Given the description of an element on the screen output the (x, y) to click on. 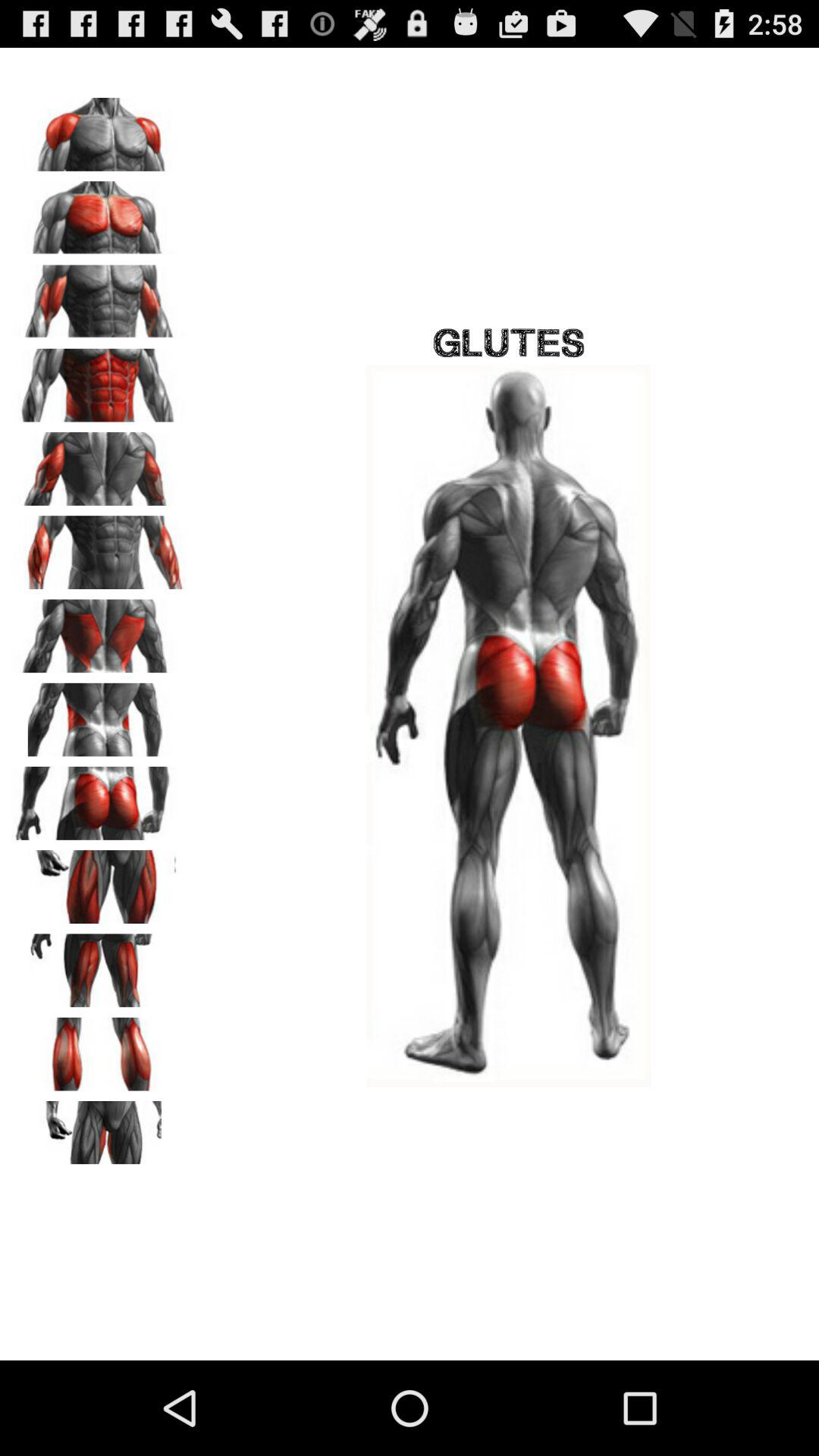
lower back view (99, 714)
